Given the description of an element on the screen output the (x, y) to click on. 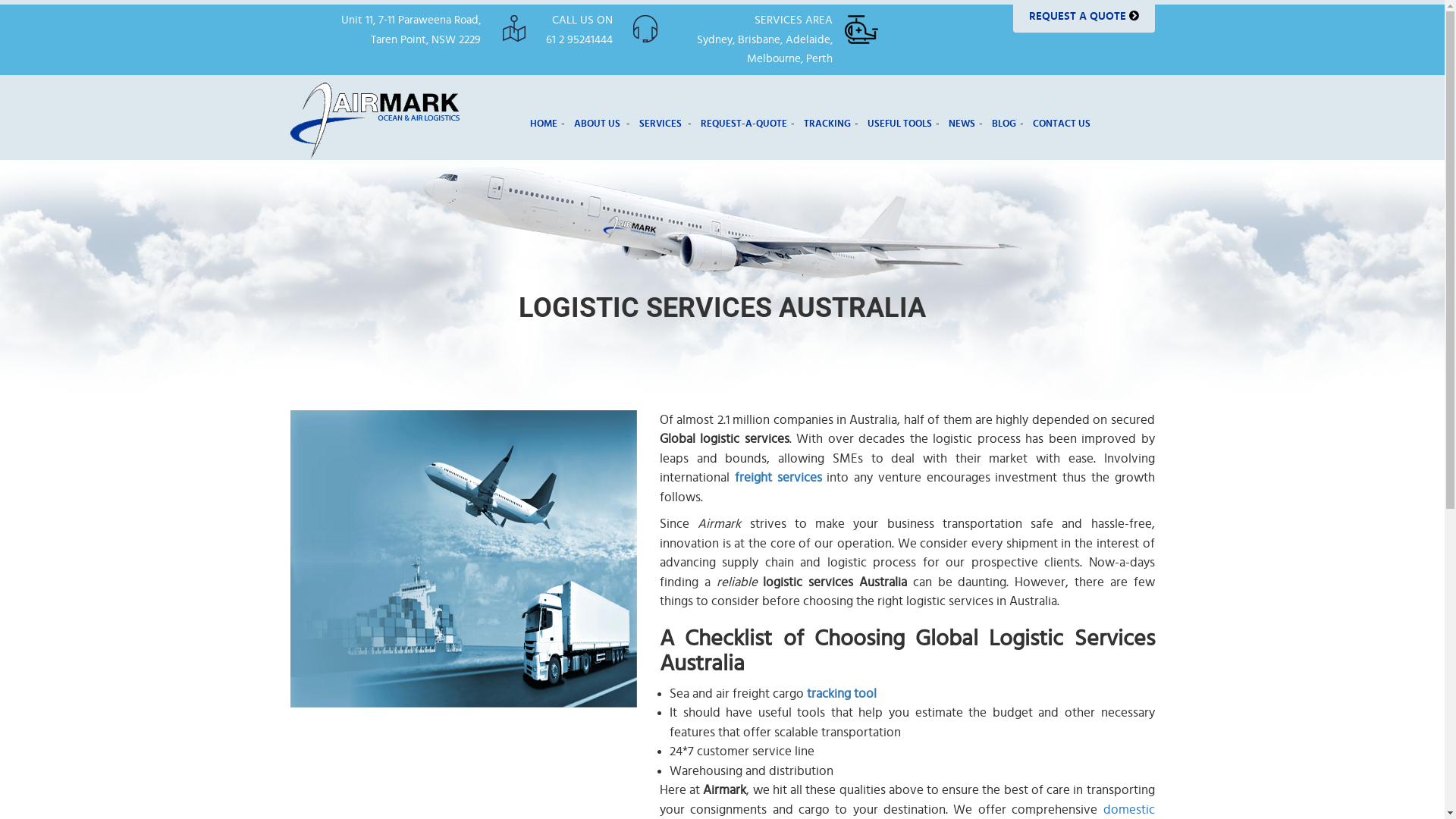
CONTACT US Element type: text (1063, 123)
BLOG Element type: text (1007, 123)
tracking tool Element type: text (841, 693)
REQUEST A QUOTE Element type: text (1083, 16)
TRACKING Element type: text (830, 123)
61 2 95241444 Element type: text (579, 38)
REQUEST-A-QUOTE Element type: text (747, 123)
ABOUT US Element type: text (601, 123)
freight services Element type: text (778, 476)
HOME Element type: text (547, 123)
NEWS Element type: text (965, 123)
SERVICES Element type: text (665, 123)
logistic services Element type: hover (463, 557)
USEFUL TOOLS Element type: text (903, 123)
